Given the description of an element on the screen output the (x, y) to click on. 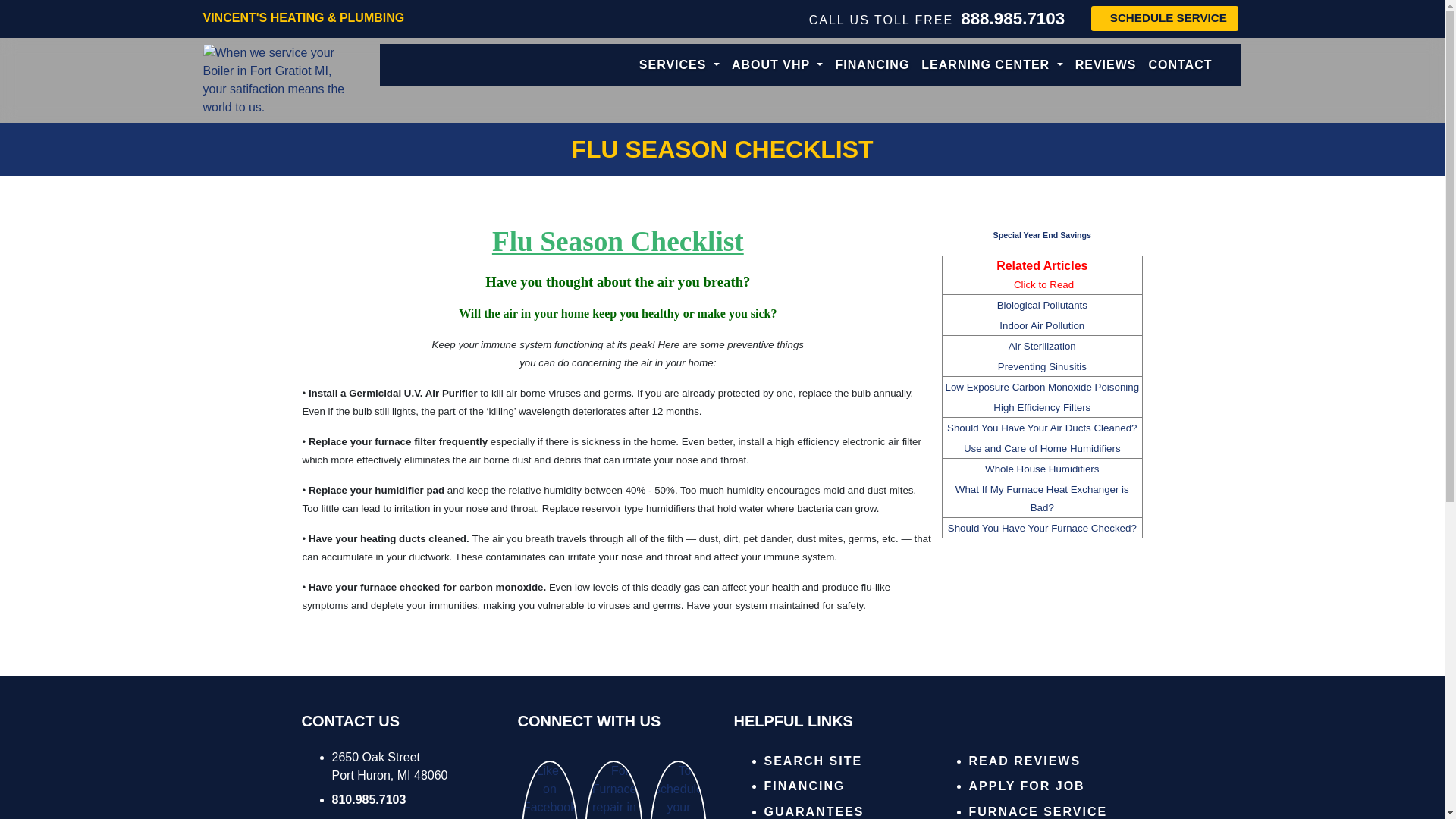
ABOUT VHP (776, 64)
SCHEDULE SERVICE (1164, 18)
FINANCING (871, 64)
SERVICES (679, 64)
LEARNING CENTER (991, 64)
